Given the description of an element on the screen output the (x, y) to click on. 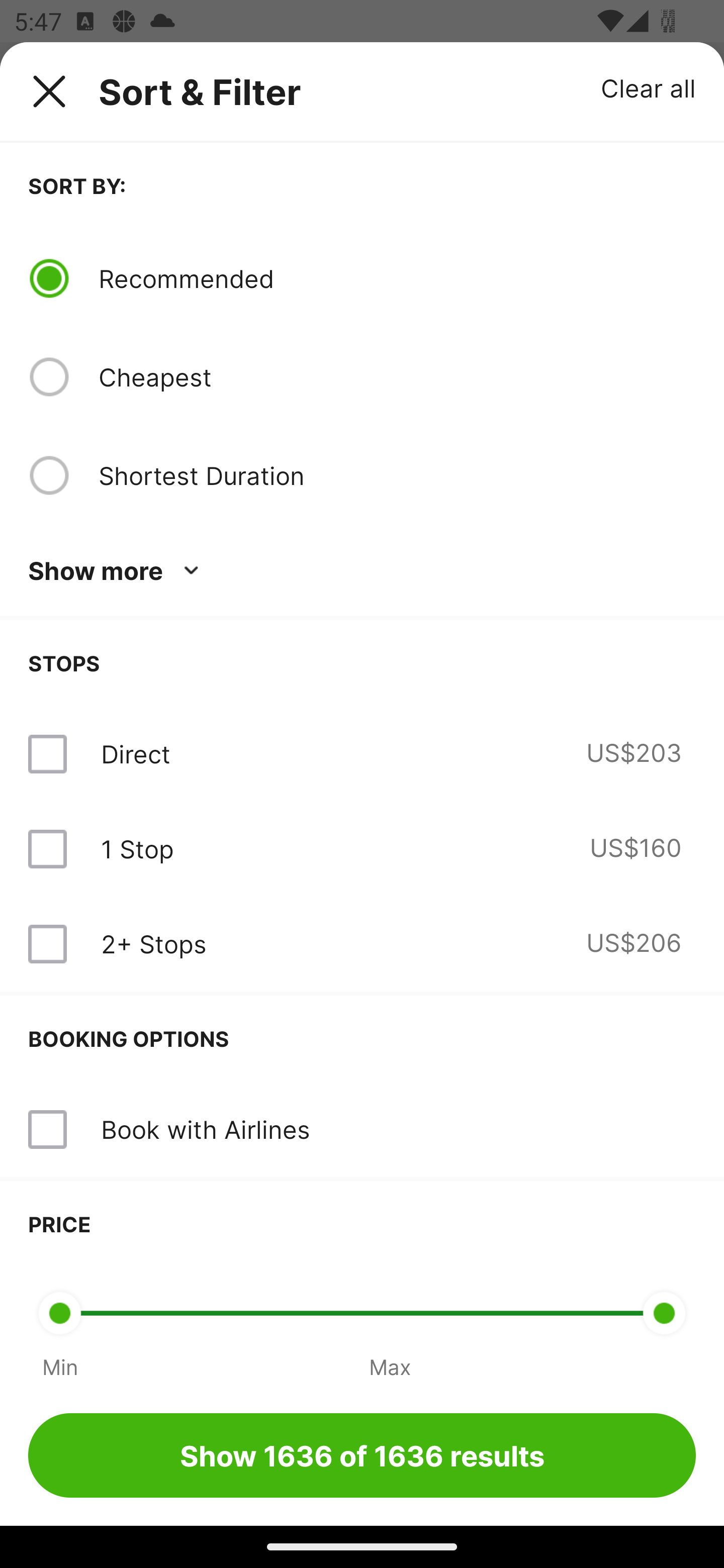
Clear all (648, 87)
Recommended  (396, 278)
Cheapest (396, 377)
Shortest Duration (396, 474)
Show more (116, 570)
Direct US$203 (362, 754)
Direct (135, 753)
1 Stop US$160 (362, 848)
1 Stop (136, 849)
2+ Stops US$206 (362, 943)
2+ Stops (153, 943)
Book with Airlines (362, 1129)
Book with Airlines (204, 1128)
Show 1636 of 1636 results (361, 1454)
